Given the description of an element on the screen output the (x, y) to click on. 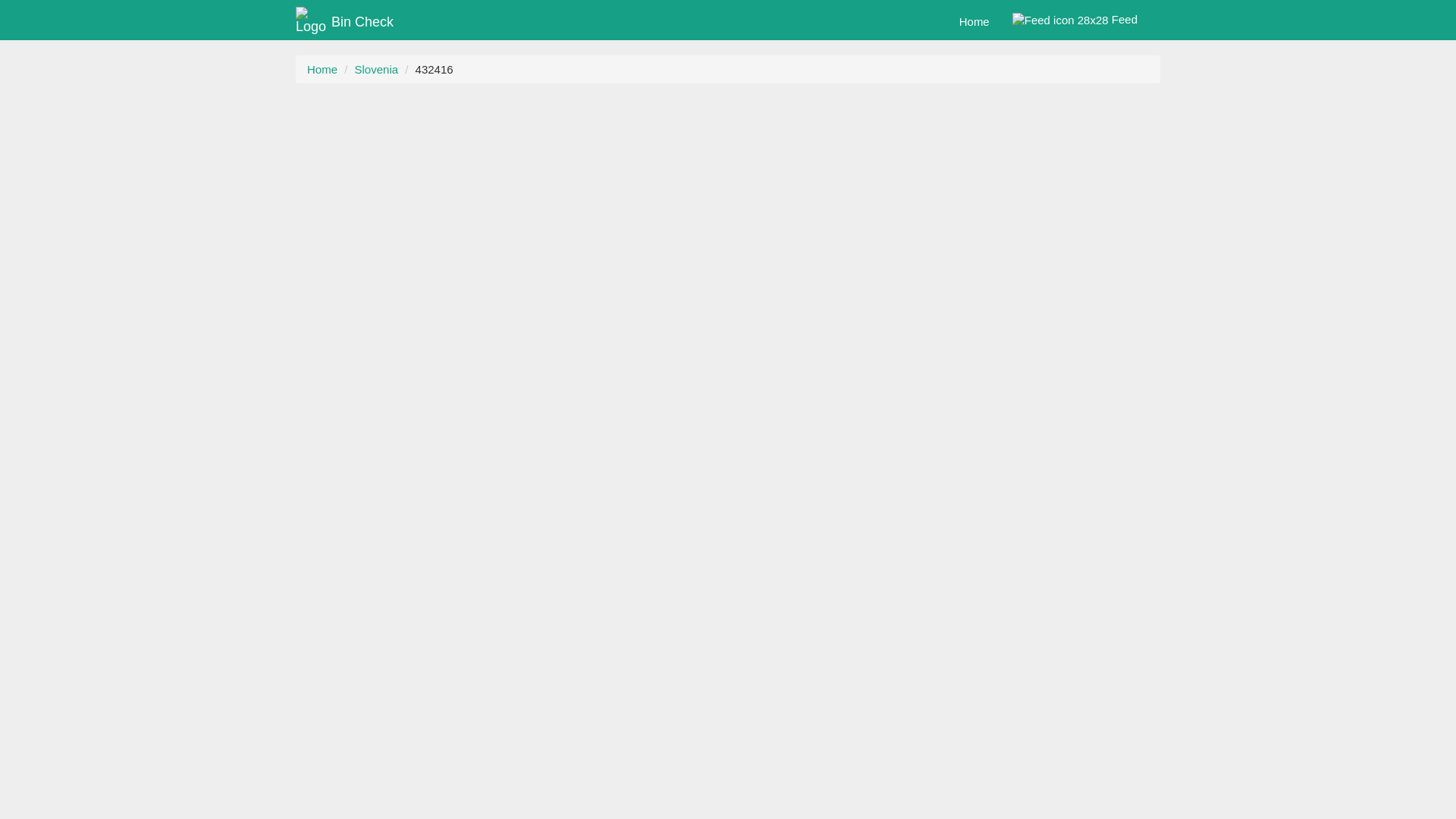
Home (322, 69)
Feed (1074, 19)
Home (974, 21)
Slovenia (376, 69)
Bin Check (340, 19)
